Given the description of an element on the screen output the (x, y) to click on. 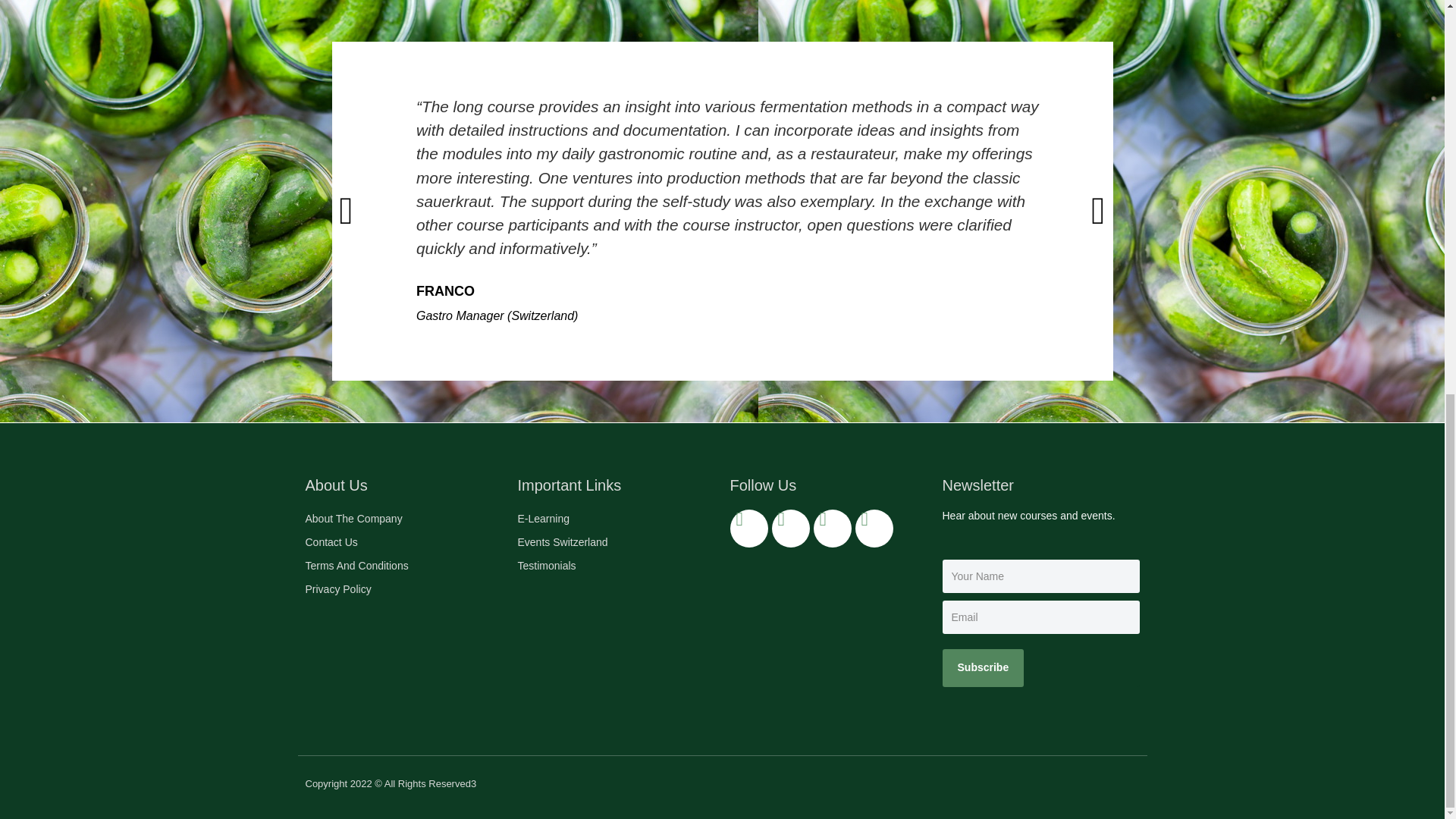
E-Learning (615, 519)
Instagram (748, 528)
Events Switzerland (615, 542)
Linkedin (874, 528)
Privacy Policy (403, 589)
Facebook (831, 528)
Testimonials (615, 566)
About The Company (403, 519)
Youtube (790, 528)
Contact Us (403, 542)
Terms And Conditions (403, 566)
